Given the description of an element on the screen output the (x, y) to click on. 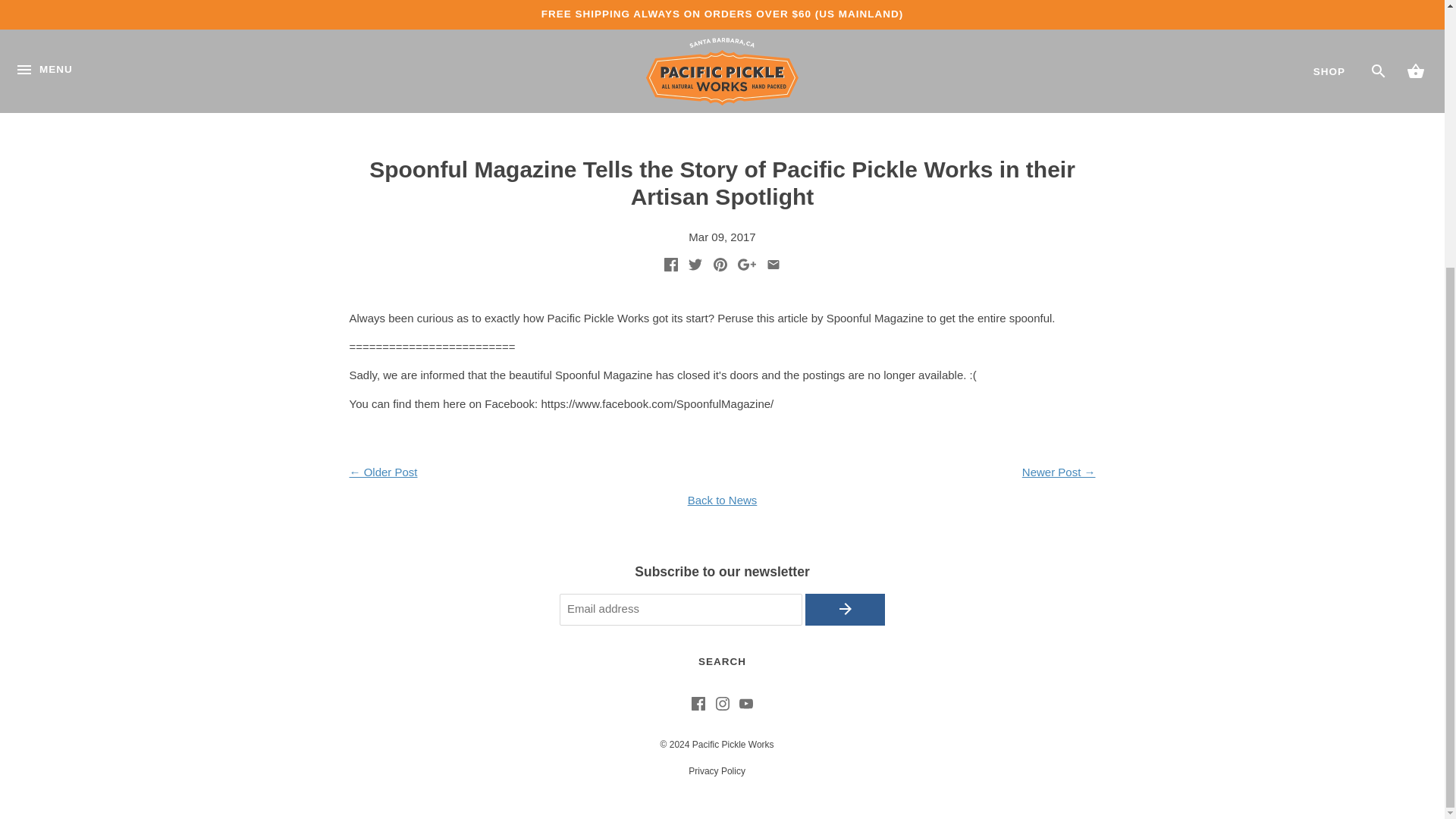
Youtube (745, 706)
Share on Facebook (670, 267)
UP (1140, 466)
Pin the main image (719, 267)
Facebook (697, 706)
Instagram (722, 706)
Email this product to somebody (773, 267)
SEARCH (721, 662)
Search (721, 662)
Share on Twitter (694, 267)
